Given the description of an element on the screen output the (x, y) to click on. 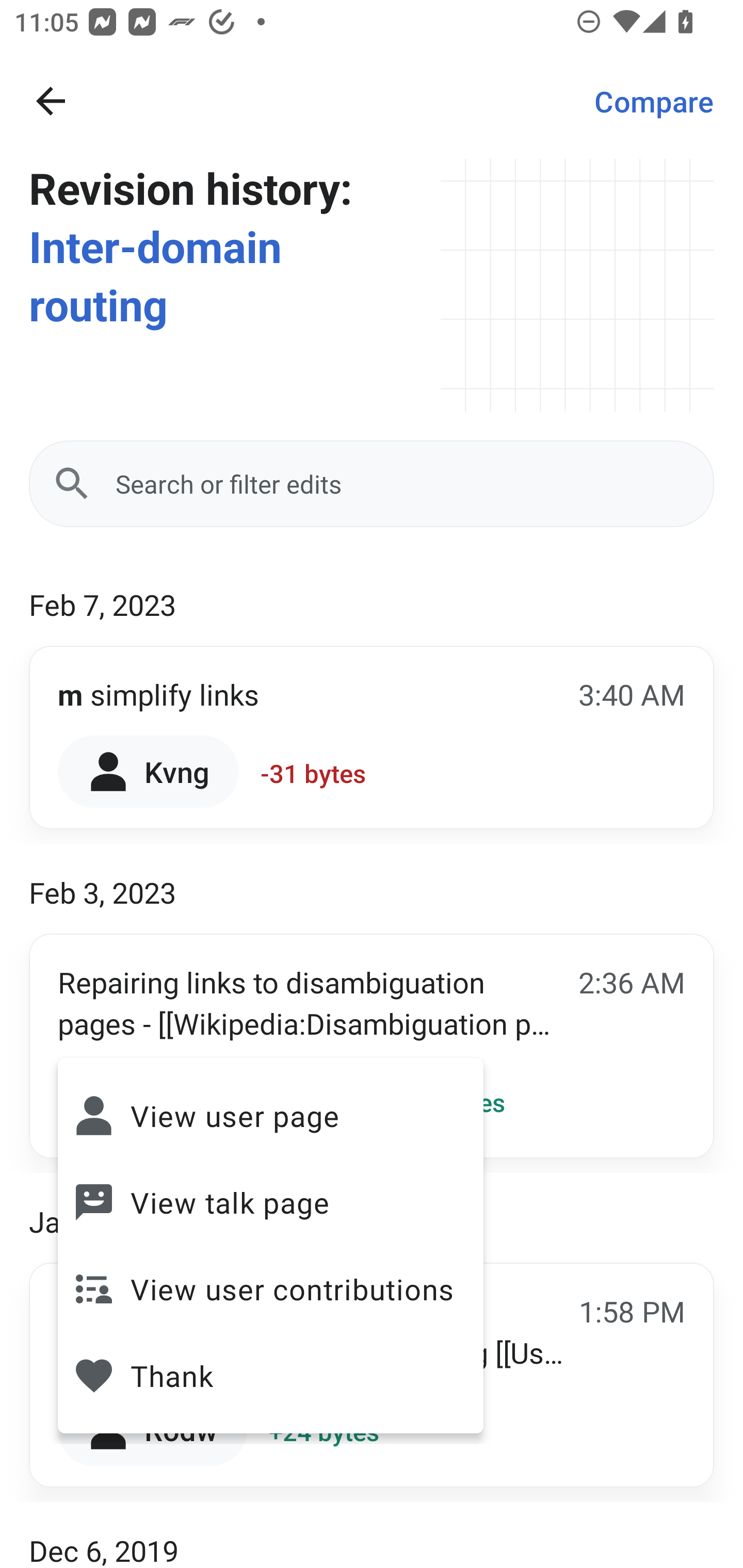
View user page (270, 1115)
View talk page (270, 1201)
View user contributions (270, 1288)
Thank (270, 1375)
